Given the description of an element on the screen output the (x, y) to click on. 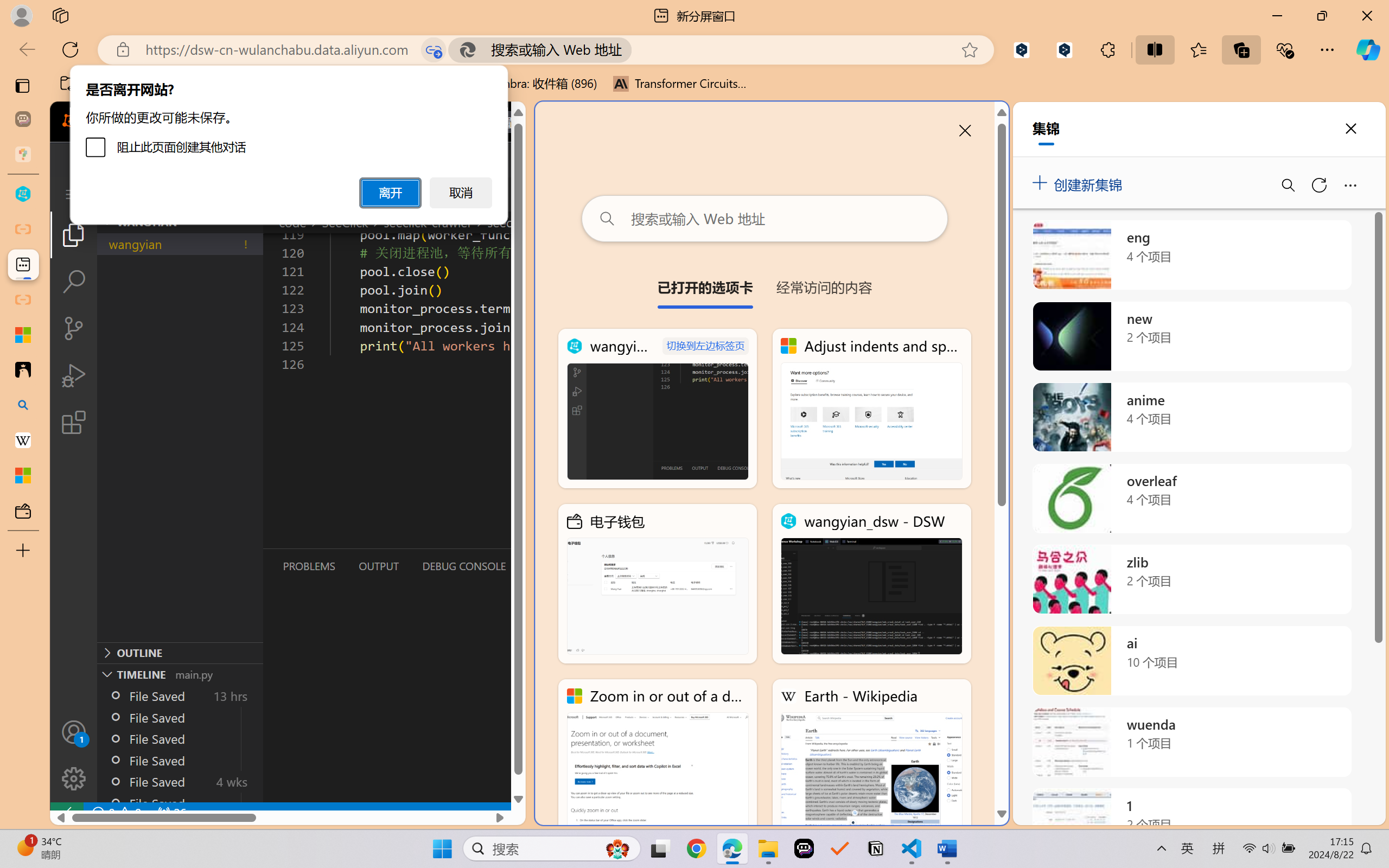
Problems (Ctrl+Shift+M) (308, 565)
Earth - Wikipedia (22, 440)
No Problems (115, 812)
